Given the description of an element on the screen output the (x, y) to click on. 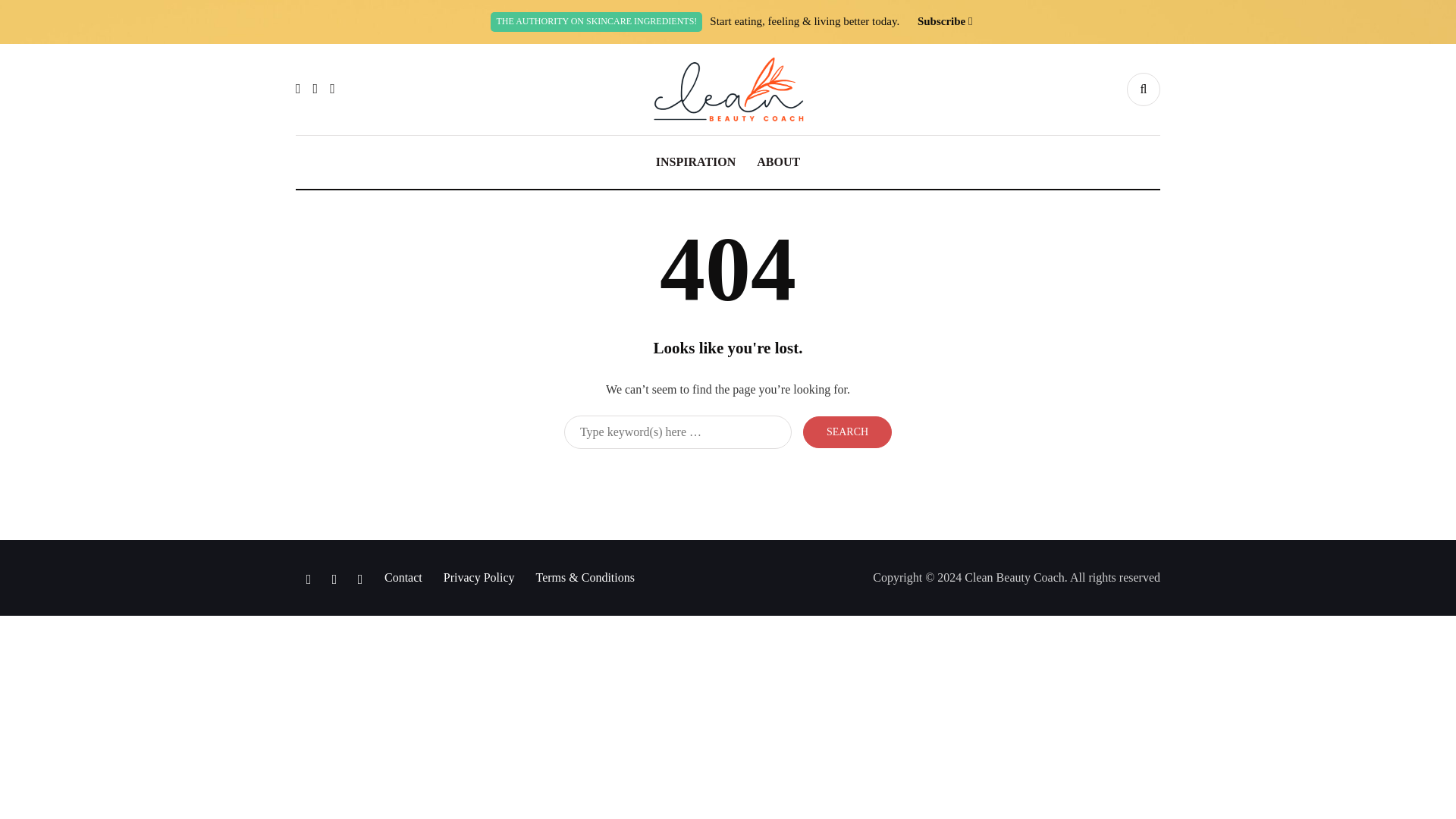
Contact (403, 576)
Subscribe (941, 21)
INSPIRATION (695, 162)
ABOUT (777, 162)
Privacy Policy (479, 576)
Search (847, 431)
Search (847, 431)
